Given the description of an element on the screen output the (x, y) to click on. 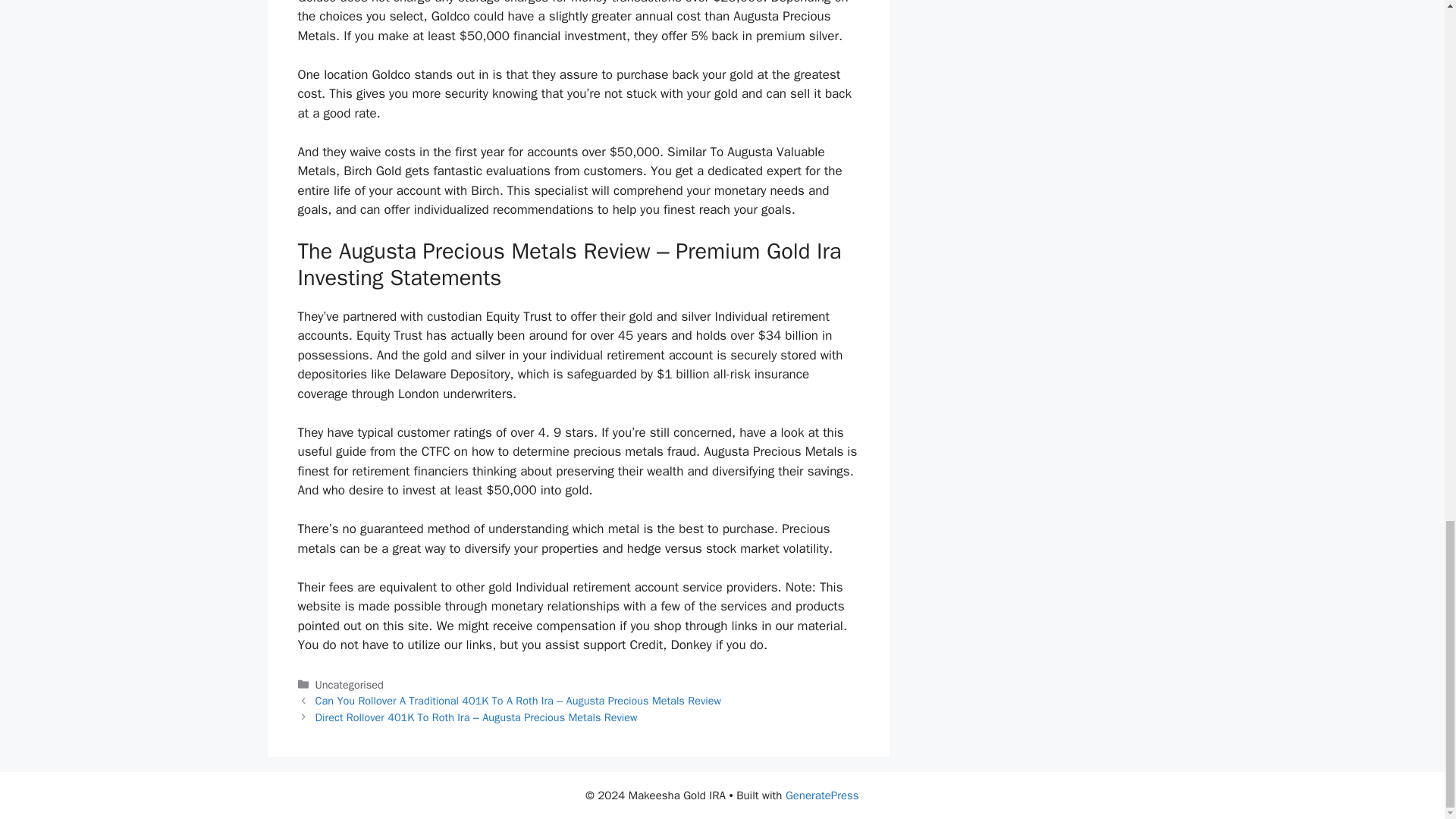
GeneratePress (822, 795)
